Given the description of an element on the screen output the (x, y) to click on. 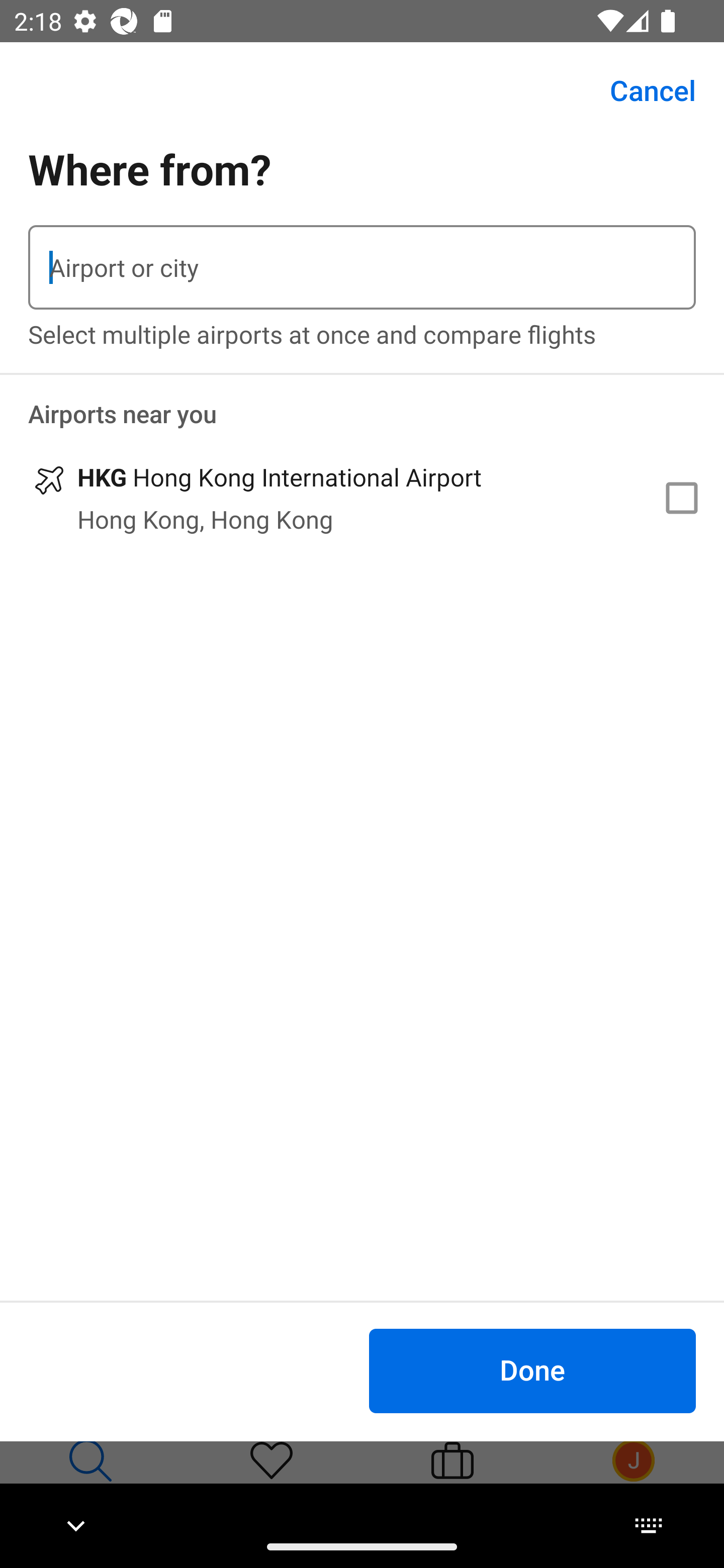
Cancel (641, 90)
Airport or city (361, 266)
Done (532, 1370)
